Given the description of an element on the screen output the (x, y) to click on. 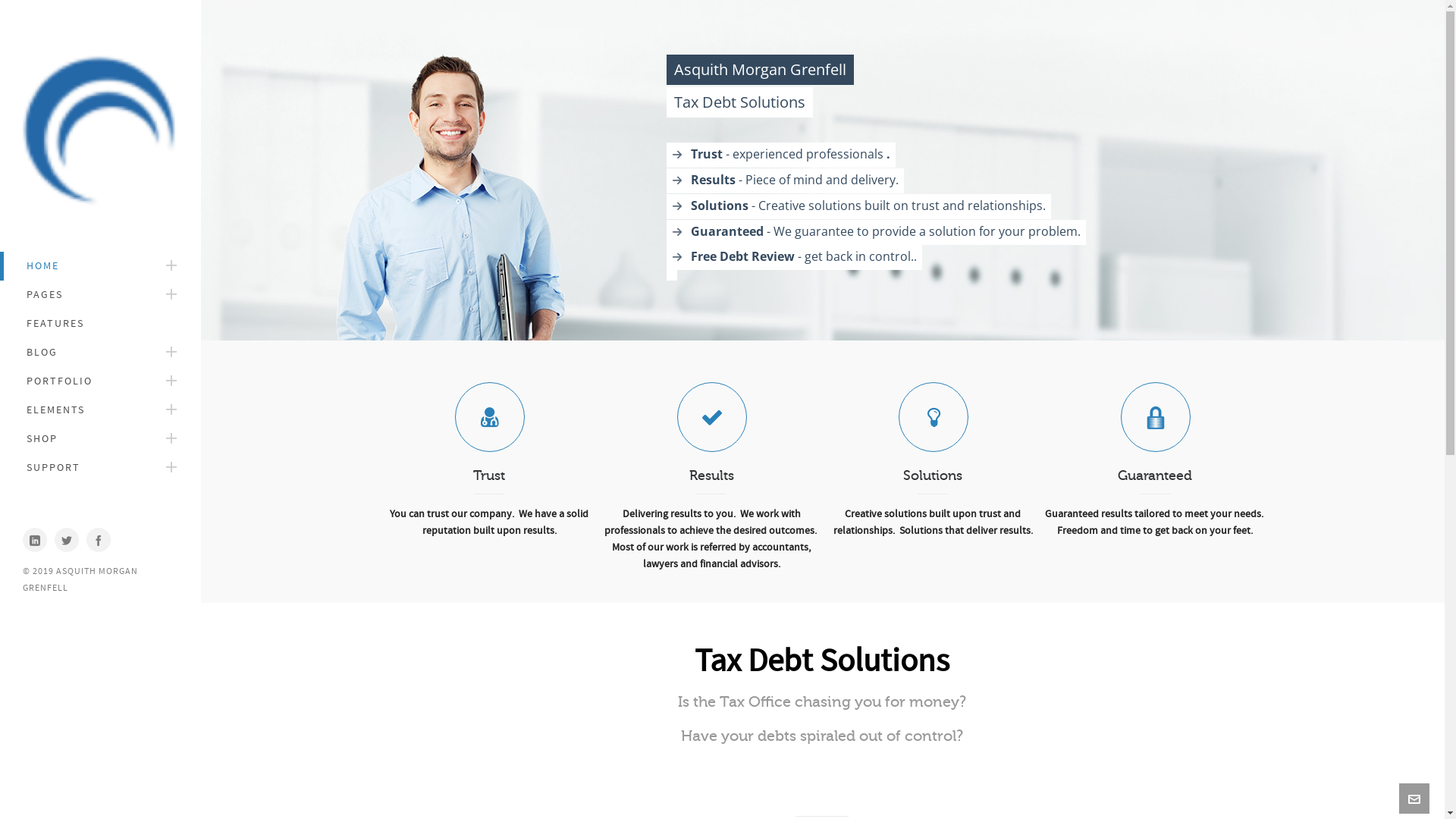
ELEMENTS Element type: text (100, 409)
PORTFOLIO Element type: text (100, 381)
SUPPORT Element type: text (100, 467)
PAGES Element type: text (100, 294)
BLOG Element type: text (100, 352)
SHOP Element type: text (100, 438)
HOME Element type: text (100, 265)
FEATURES Element type: text (100, 323)
